Given the description of an element on the screen output the (x, y) to click on. 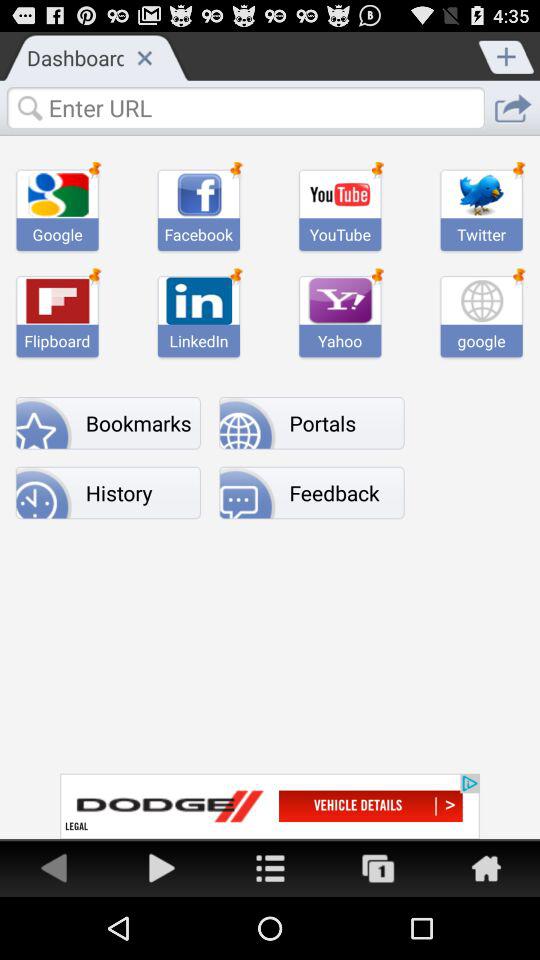
exit the current page (144, 57)
